Given the description of an element on the screen output the (x, y) to click on. 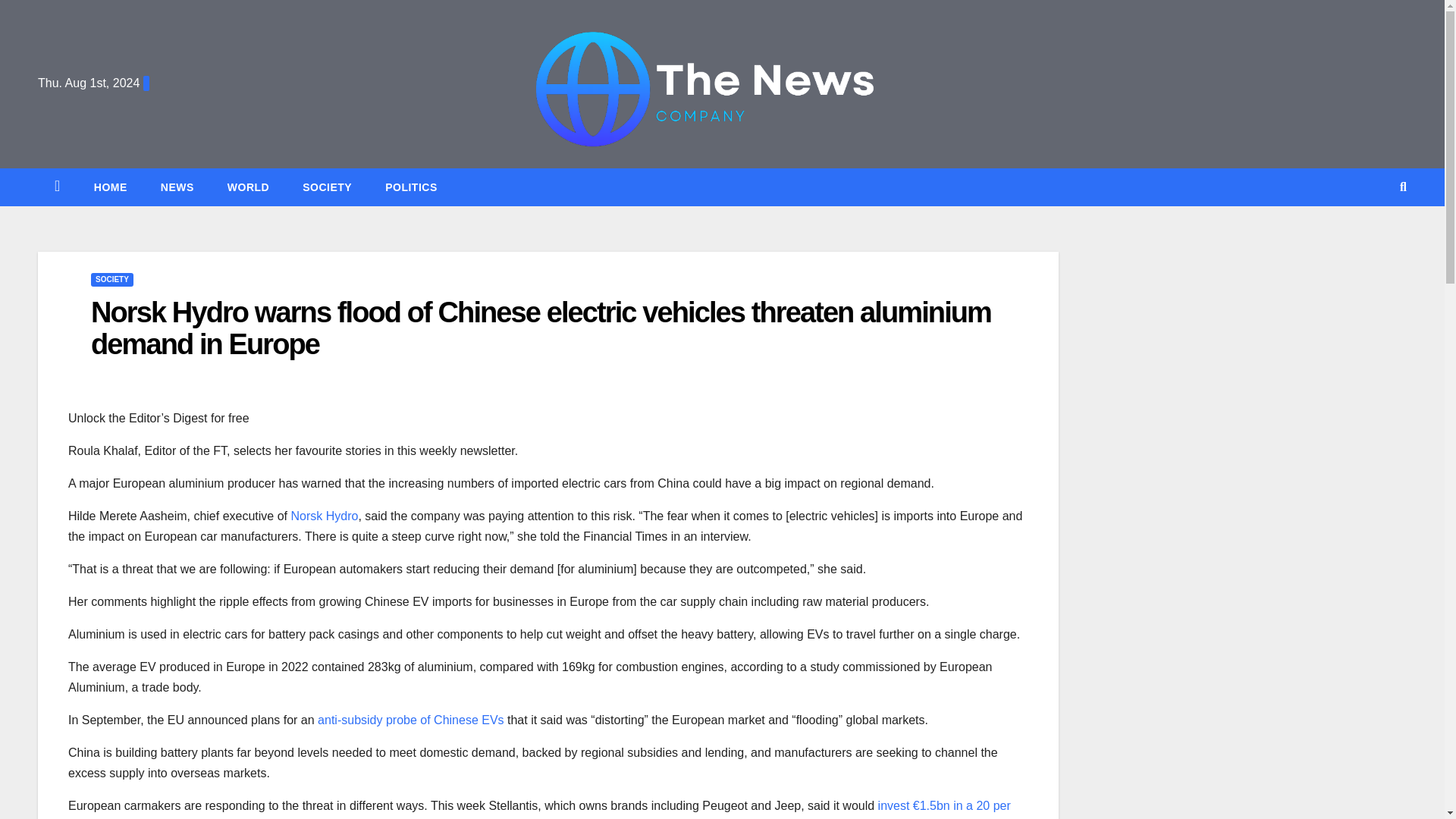
NEWS (177, 187)
anti-subsidy probe of Chinese EVs (410, 719)
Norsk Hydro (323, 515)
Politics (411, 187)
SOCIETY (326, 187)
SOCIETY (111, 279)
HOME (110, 187)
News (177, 187)
World (248, 187)
POLITICS (411, 187)
WORLD (248, 187)
Home (110, 187)
Society (326, 187)
